Given the description of an element on the screen output the (x, y) to click on. 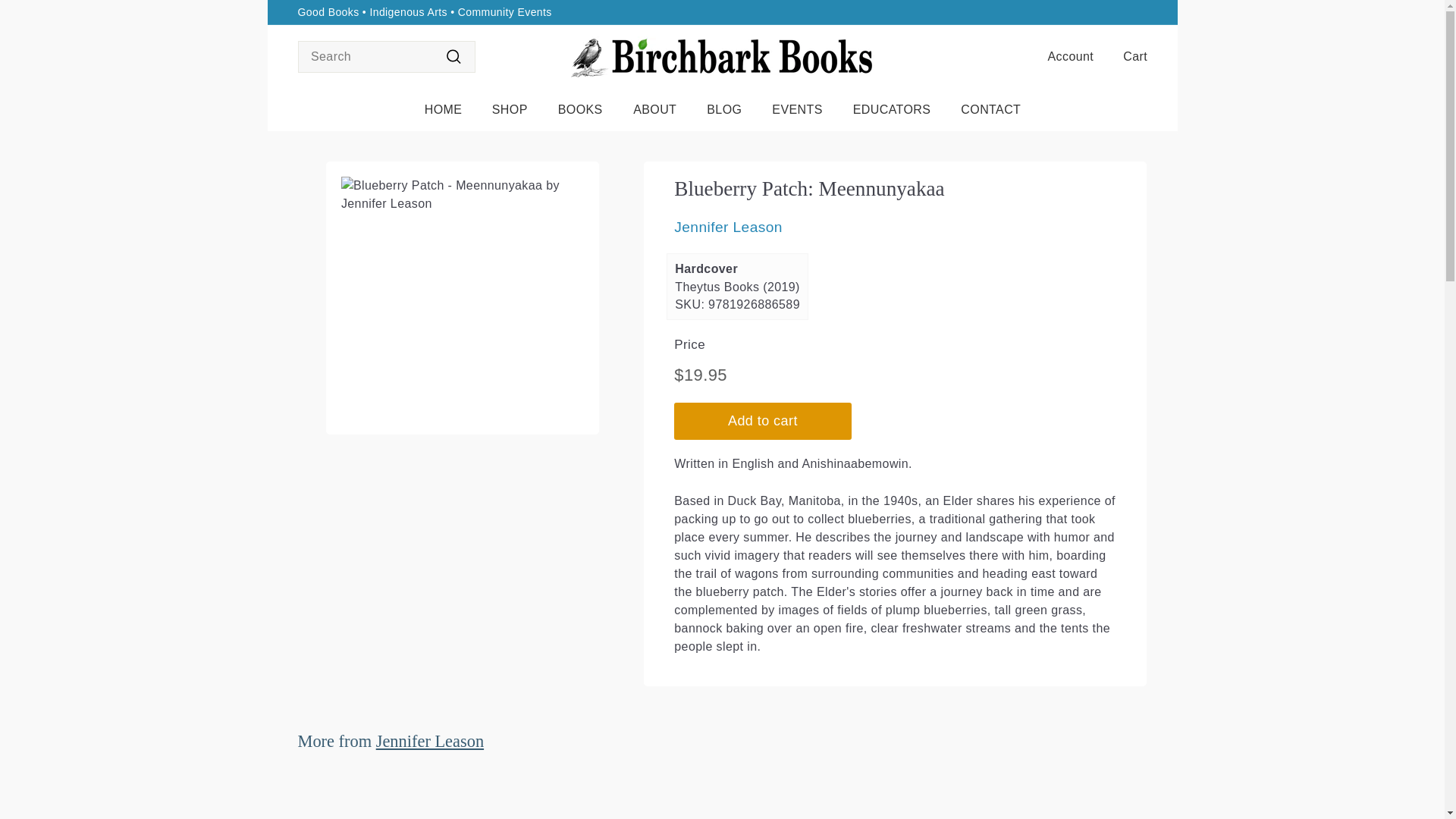
Account (1064, 56)
Instagram (1142, 12)
Birchbark Books on Facebook (1134, 12)
Jennifer Leason (429, 741)
Facebook (1134, 12)
Birchbark Books on Instagram (1142, 12)
HOME (443, 109)
Cart (1129, 56)
